Given the description of an element on the screen output the (x, y) to click on. 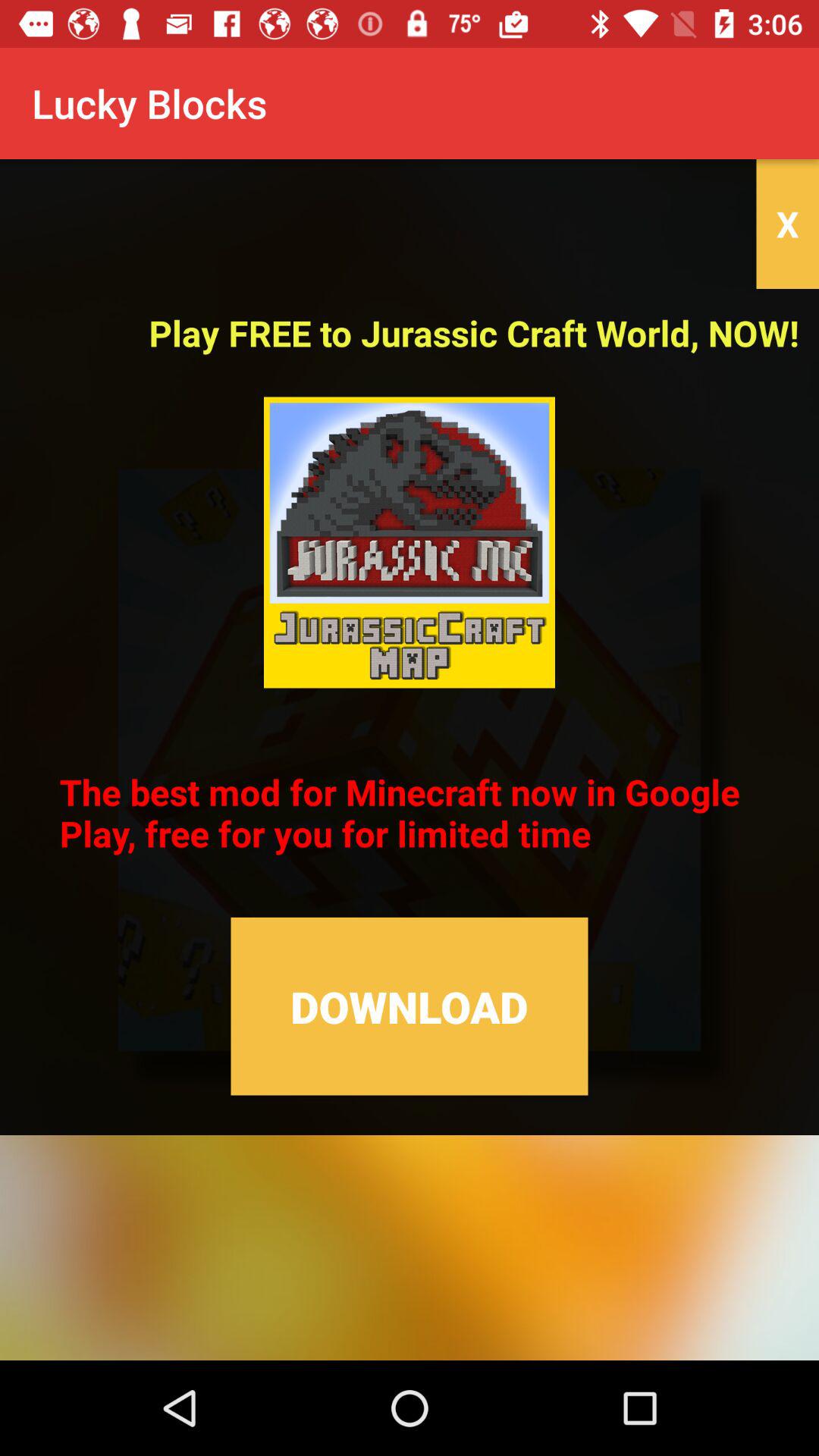
jump to x icon (787, 223)
